Given the description of an element on the screen output the (x, y) to click on. 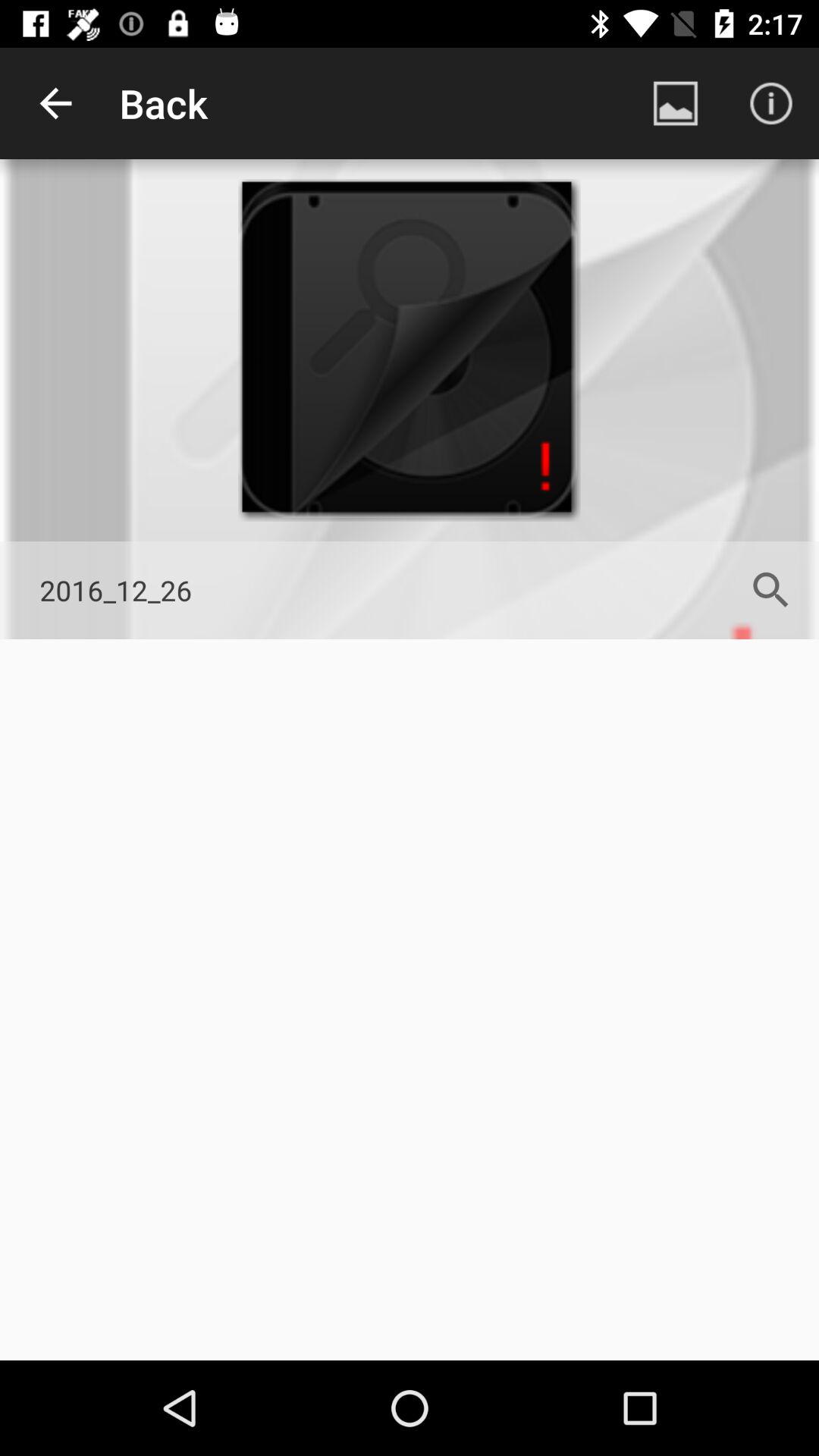
turn off the app next to the back icon (55, 103)
